Given the description of an element on the screen output the (x, y) to click on. 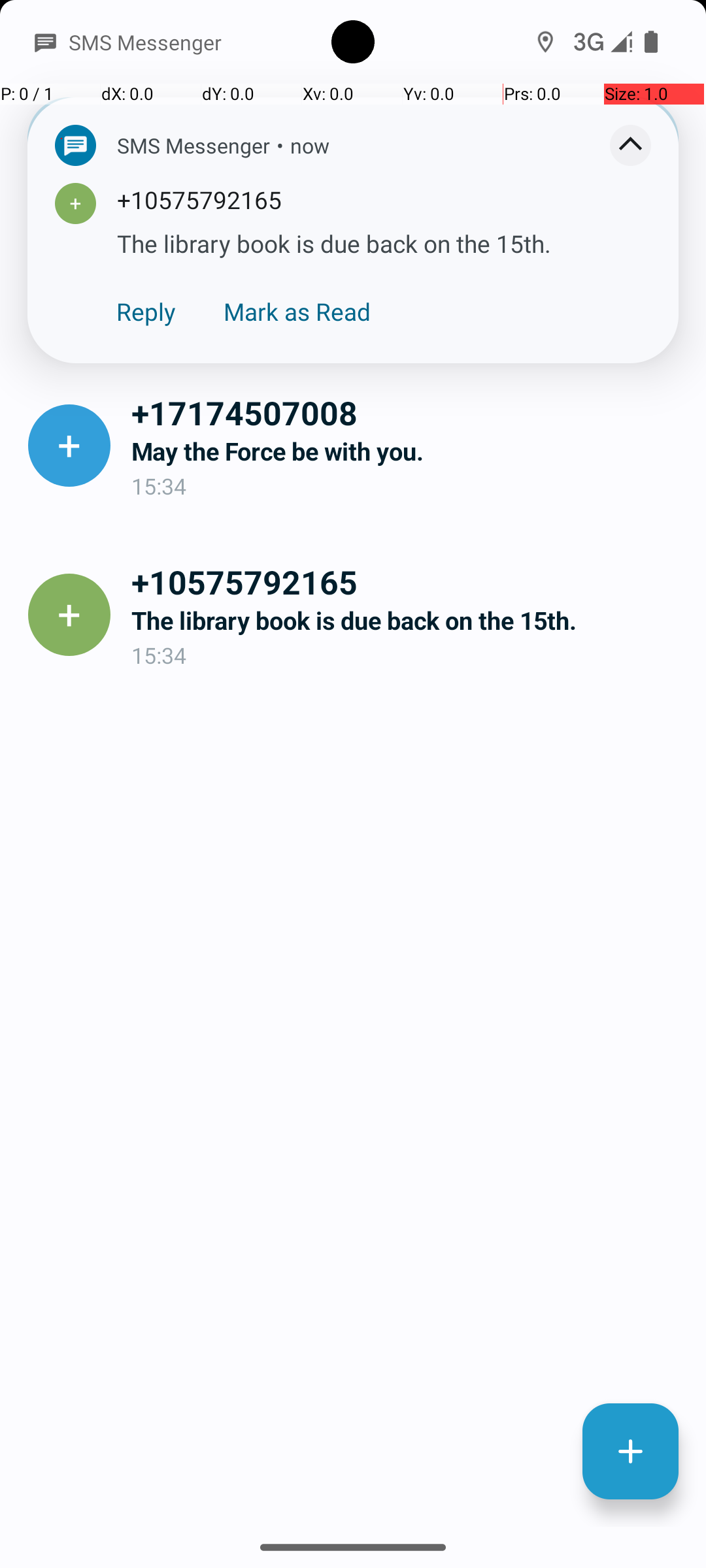
+18726294922 Element type: android.widget.TextView (408, 242)
Parents' evening at school this Wednesday. Element type: android.widget.TextView (408, 281)
+17174507008 Element type: android.widget.TextView (408, 412)
May the Force be with you. Element type: android.widget.TextView (408, 450)
+10575792165 Element type: android.widget.TextView (408, 581)
The library book is due back on the 15th. Element type: android.widget.TextView (408, 620)
On Element type: android.widget.Switch (186, 41)
Off Element type: android.widget.Switch (518, 41)
Collapse Element type: android.widget.Button (630, 145)
Reply Element type: android.widget.Button (146, 311)
Mark as Read Element type: android.widget.Button (296, 311)
• Element type: android.widget.TextView (279, 145)
now Element type: android.widget.TextView (309, 145)
